Given the description of an element on the screen output the (x, y) to click on. 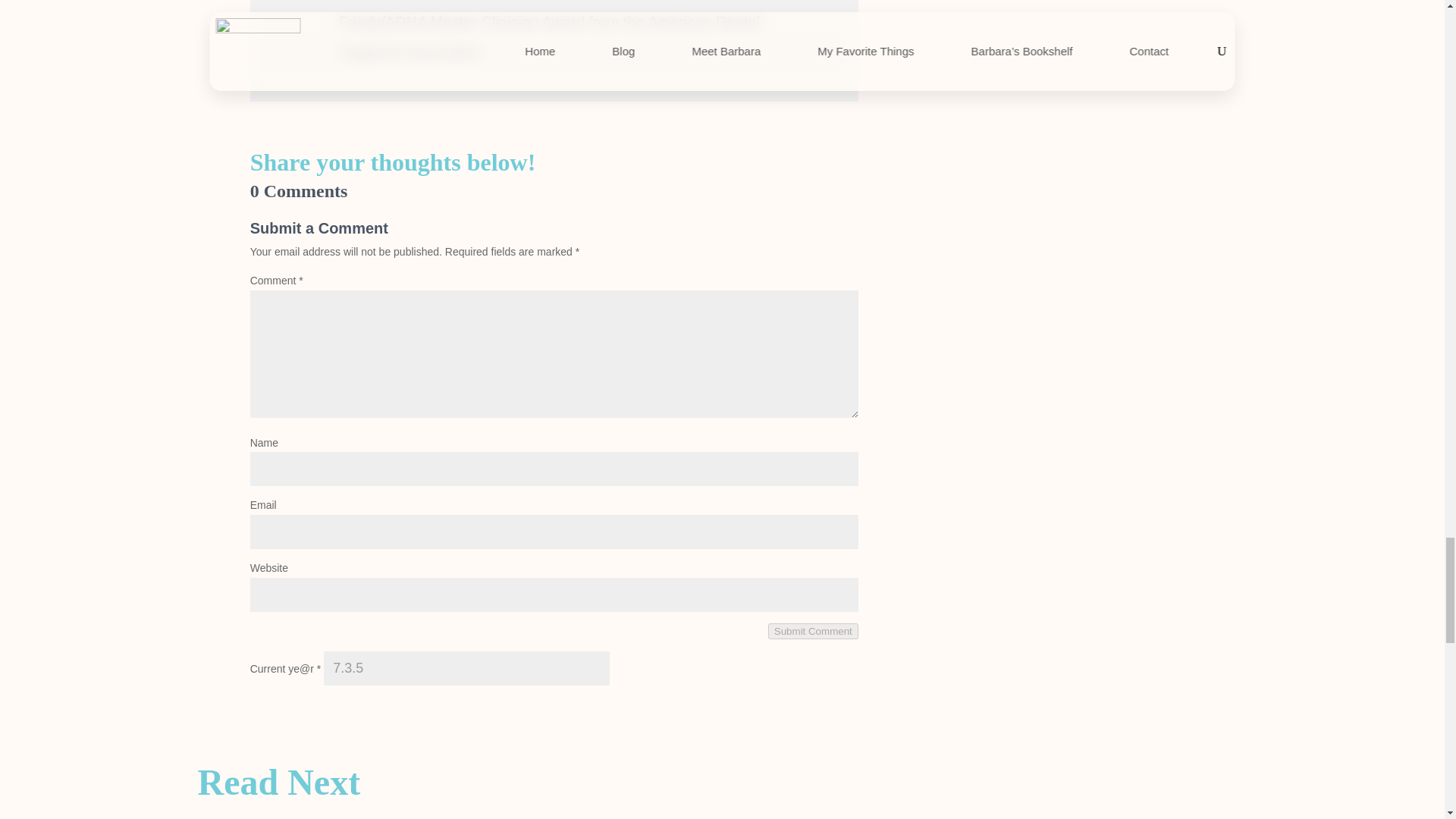
7.3.5 (466, 668)
